Given the description of an element on the screen output the (x, y) to click on. 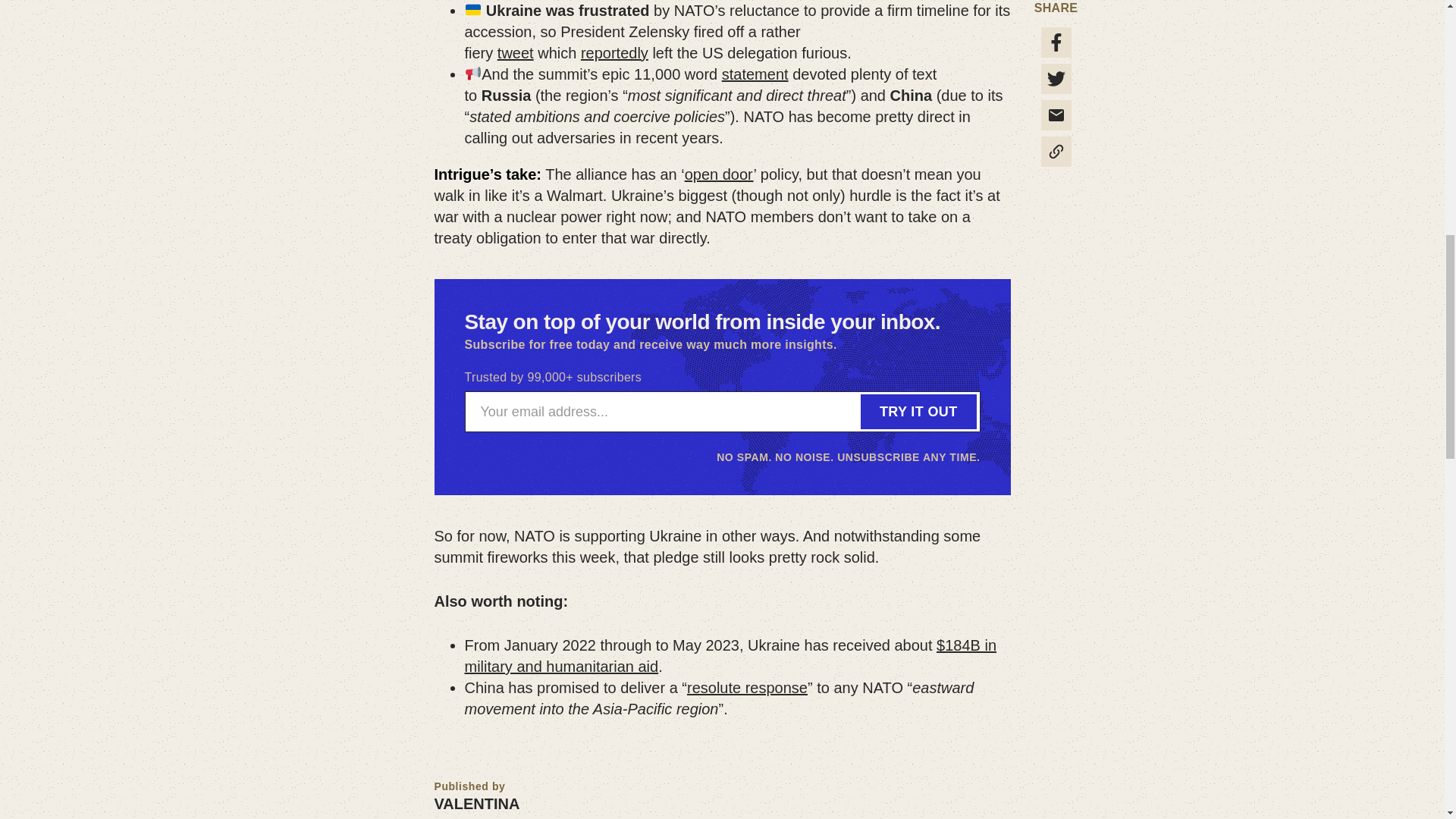
Try it Out (918, 411)
